Given the description of an element on the screen output the (x, y) to click on. 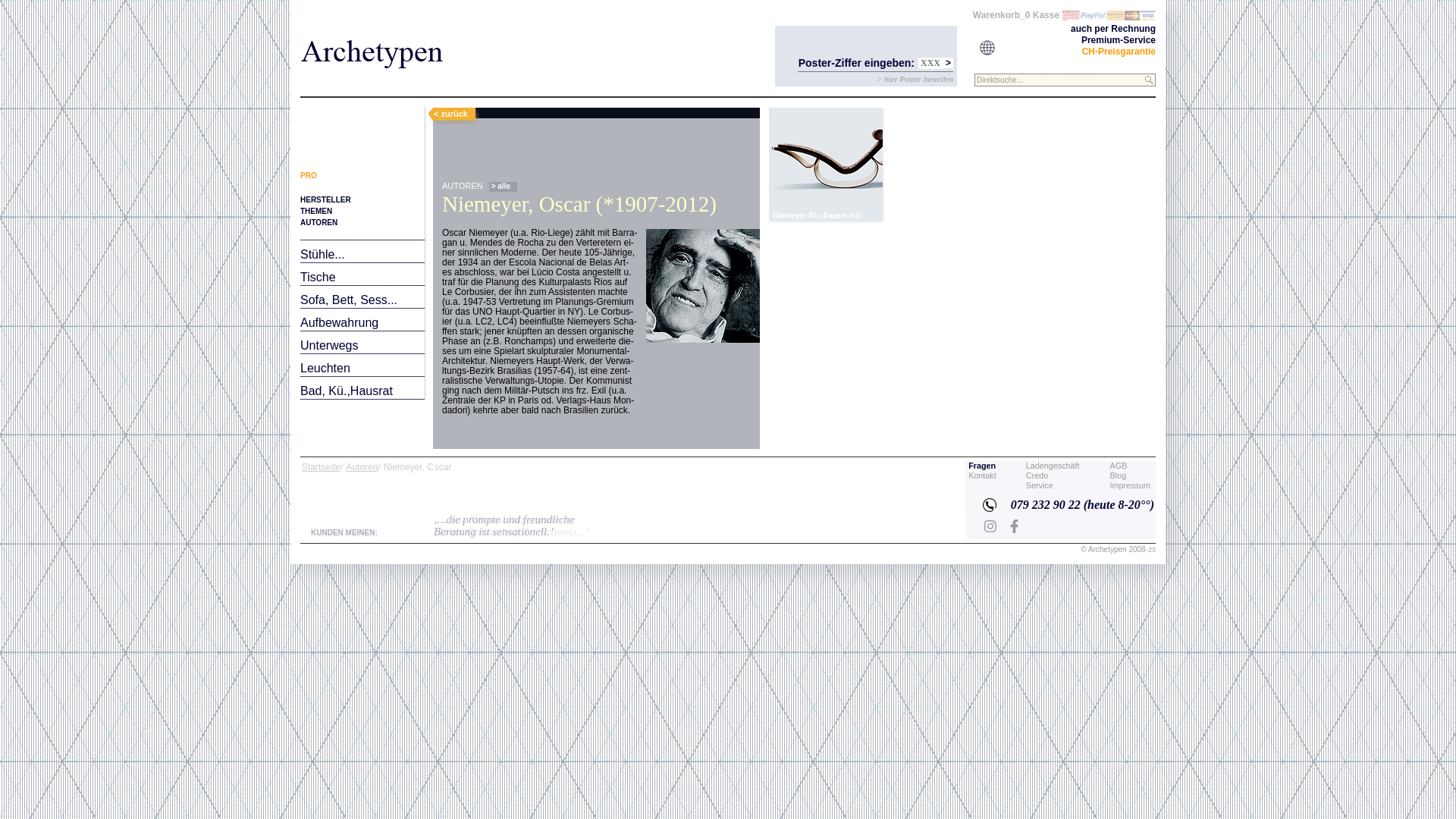
auch per Rechnung Element type: text (1112, 28)
Autoren Element type: text (361, 466)
Kontakt Element type: text (982, 475)
CH-Preisgarantie Element type: text (1118, 51)
Eames Element type: text (322, 85)
AGB Element type: text (1118, 465)
Tische Element type: text (317, 276)
Juhl Element type: text (561, 85)
> hier Poster bestellen Element type: text (914, 78)
L2 Element type: hover (825, 164)
Thonet Element type: text (456, 85)
Gray Element type: text (528, 85)
Breuer Element type: text (412, 85)
THEMEN Element type: text (316, 211)
> alle Element type: text (503, 186)
HERSTELLER Element type: text (325, 199)
Credo Element type: text (1037, 475)
PRO Element type: text (308, 175)
Aufbewahrung Element type: text (339, 322)
Kasse Element type: text (1045, 14)
AUTOREN Element type: text (318, 222)
Wegner Element type: text (367, 85)
Niemeyer Rio Fasem Intl. Element type: text (825, 164)
L2 Element type: hover (819, 158)
Warenkorb_0 Element type: text (1001, 14)
MvR Element type: text (495, 85)
Sofa, Bett, Sess... Element type: text (348, 299)
Blog Element type: text (1118, 475)
Unterwegs Element type: text (328, 344)
Service Element type: text (1039, 484)
Impressum Element type: text (1130, 484)
Fragen Element type: text (981, 465)
Leuchten Element type: text (325, 367)
Startseite Element type: text (320, 466)
Premium-Service Element type: text (1118, 39)
> Element type: text (948, 62)
